Given the description of an element on the screen output the (x, y) to click on. 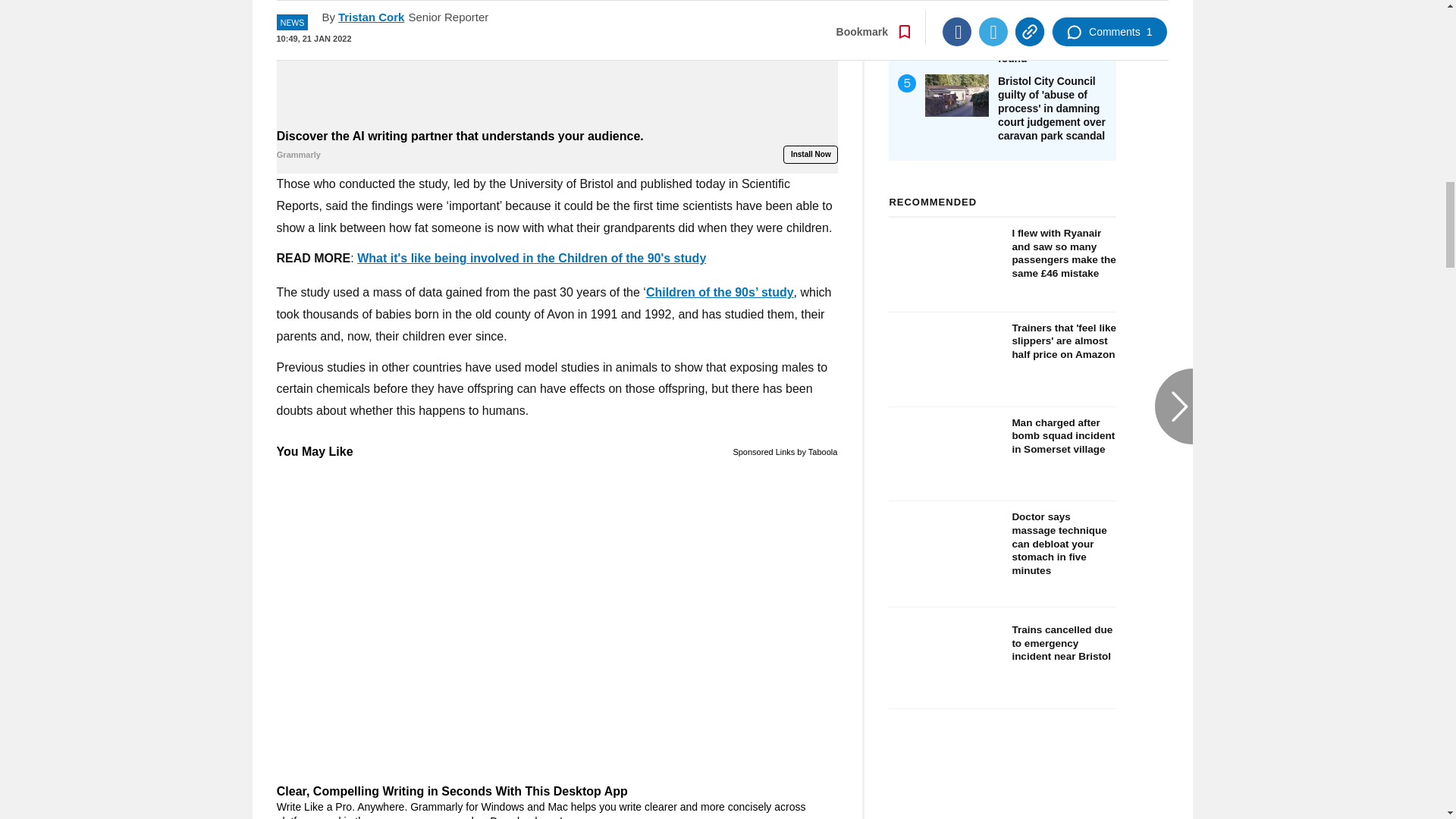
Clear, Compelling Writing in Seconds With This Desktop App (557, 800)
